Given the description of an element on the screen output the (x, y) to click on. 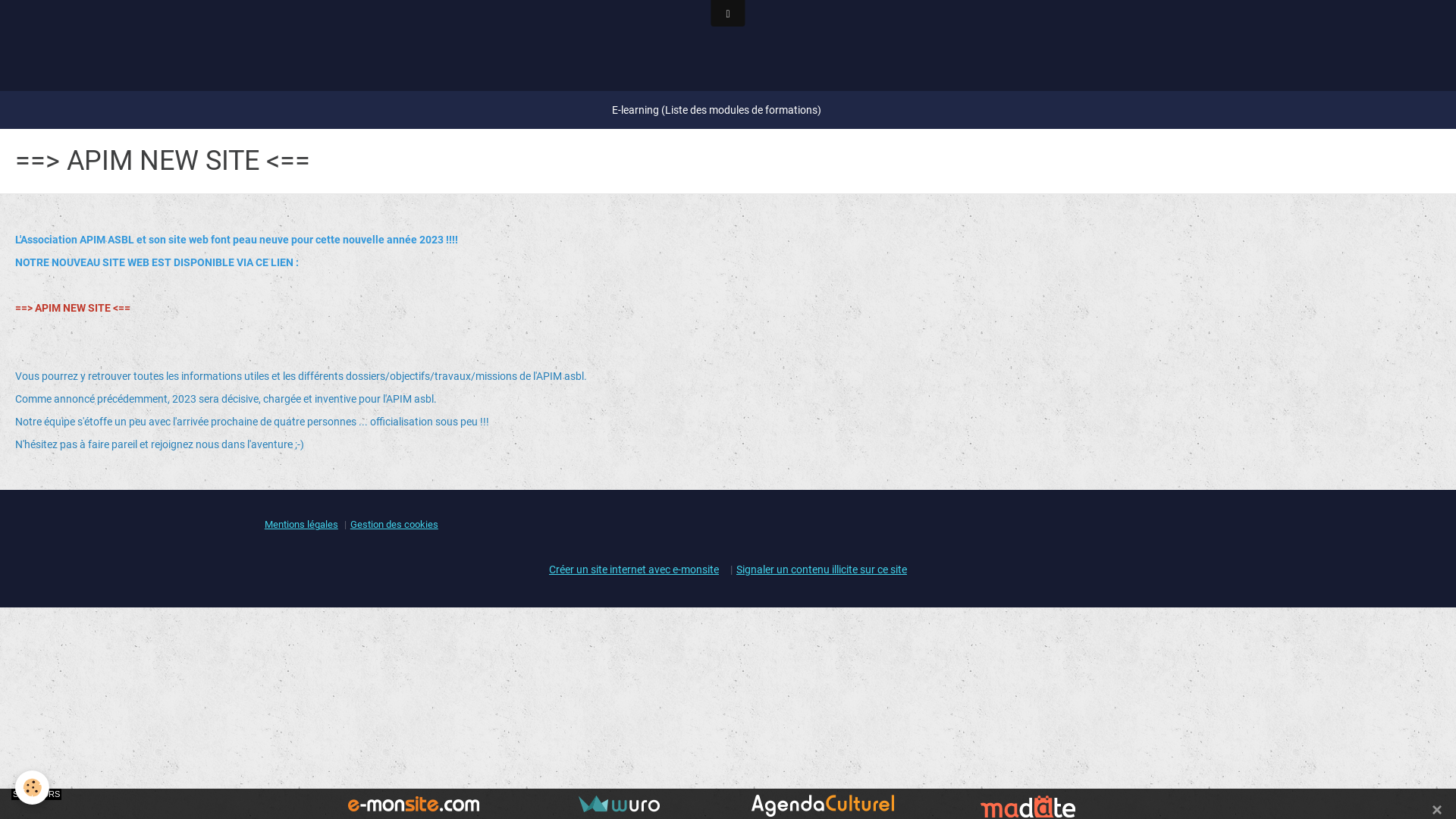
Gestion des cookies Element type: text (394, 524)
Signaler un contenu illicite sur ce site Element type: text (821, 569)
E-learning (Liste des modules de formations) Element type: text (716, 109)
Madate Element type: hover (1027, 805)
==> APIM NEW SITE <== Element type: text (72, 307)
Agenda Culturel Element type: hover (822, 805)
